Given the description of an element on the screen output the (x, y) to click on. 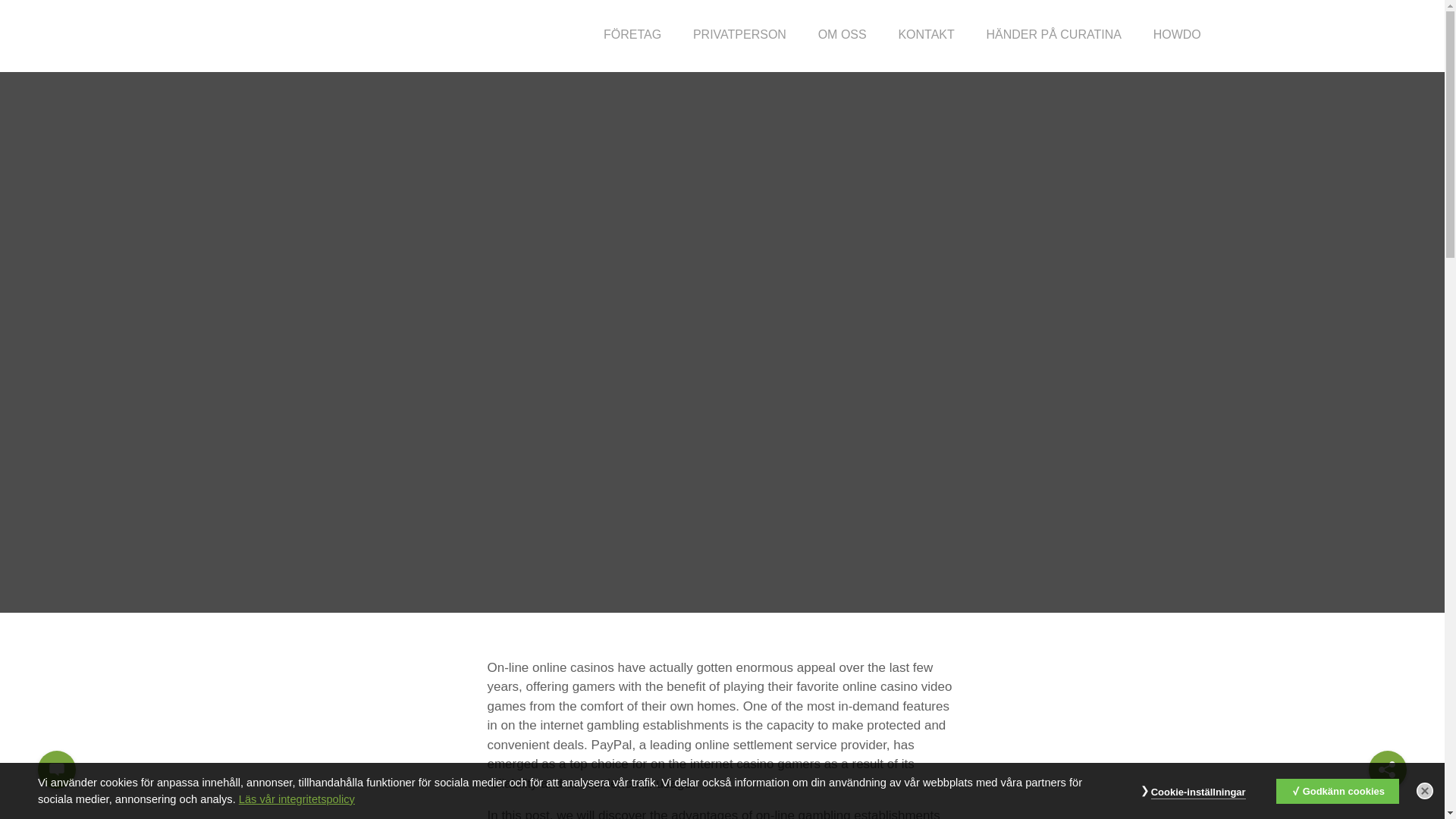
OM OSS (842, 33)
PRIVATPERSON (739, 33)
Fill 71 Copy (56, 768)
HOWDO (1177, 33)
KONTAKT (925, 33)
